Given the description of an element on the screen output the (x, y) to click on. 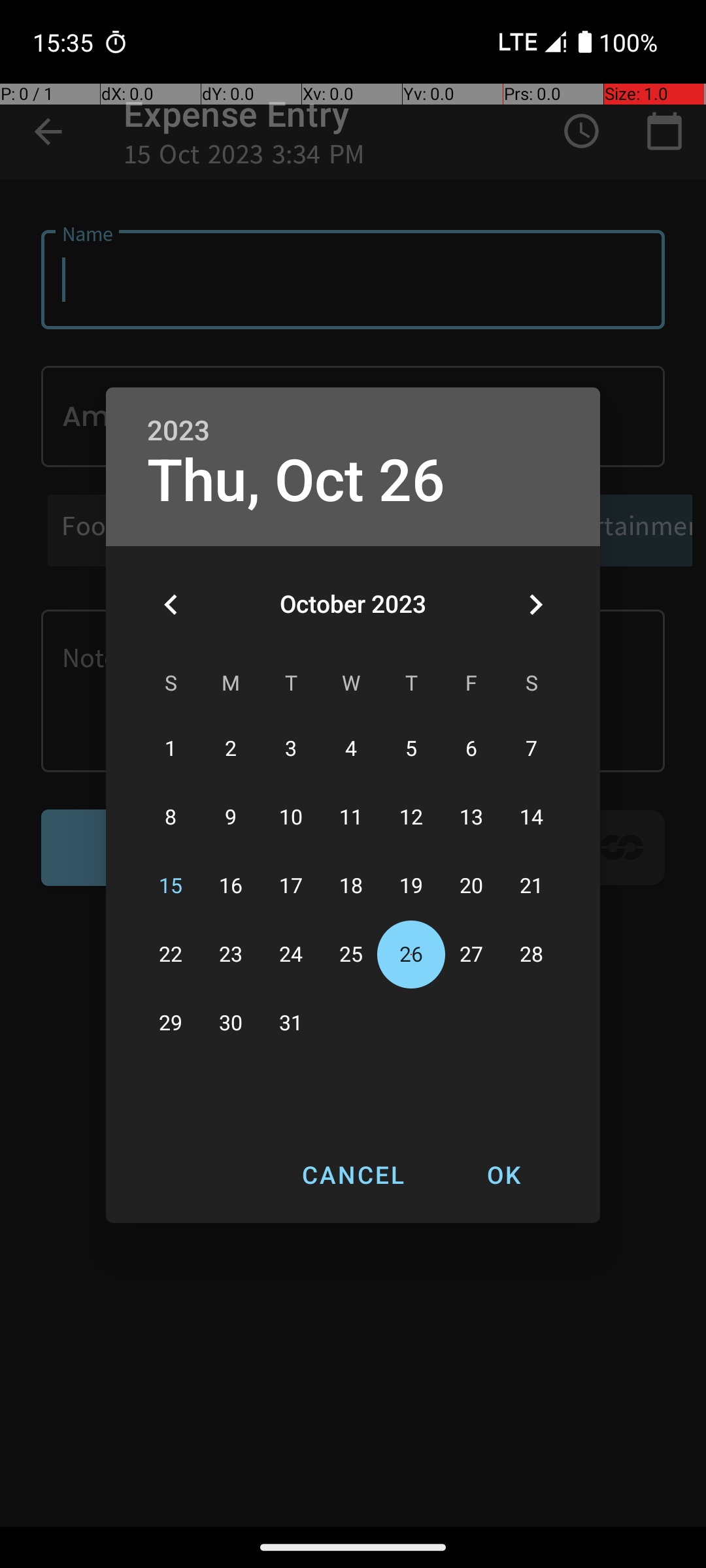
Thu, Oct 26 Element type: android.widget.TextView (296, 480)
